Given the description of an element on the screen output the (x, y) to click on. 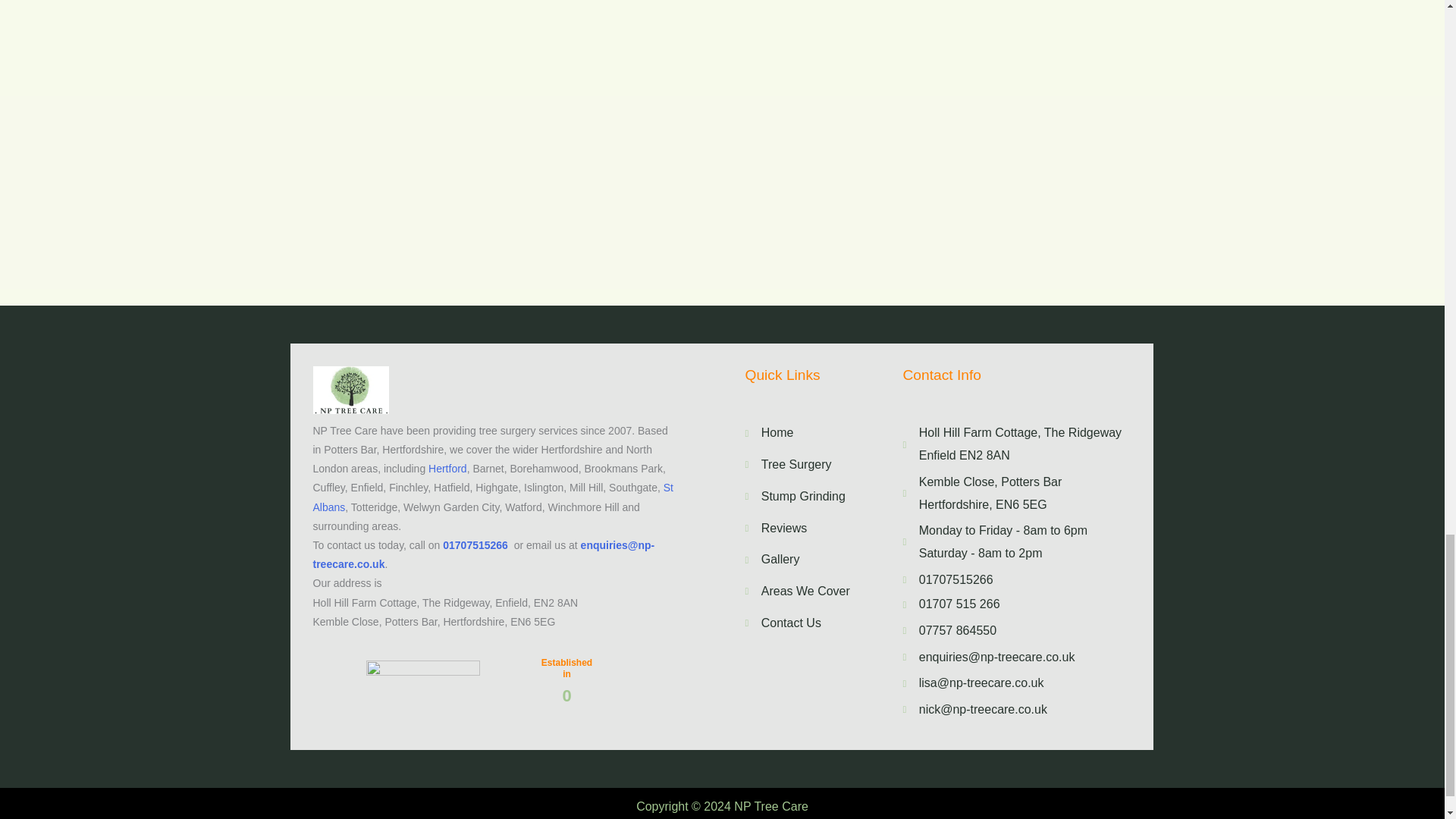
Gallery (808, 558)
Contact Us (808, 622)
Home (808, 432)
Areas We Cover (808, 590)
Stump Grinding (808, 496)
Reviews (808, 527)
Hertford (447, 468)
Tree Surgery (808, 464)
St Albans (492, 496)
01707515266 (475, 544)
